Given the description of an element on the screen output the (x, y) to click on. 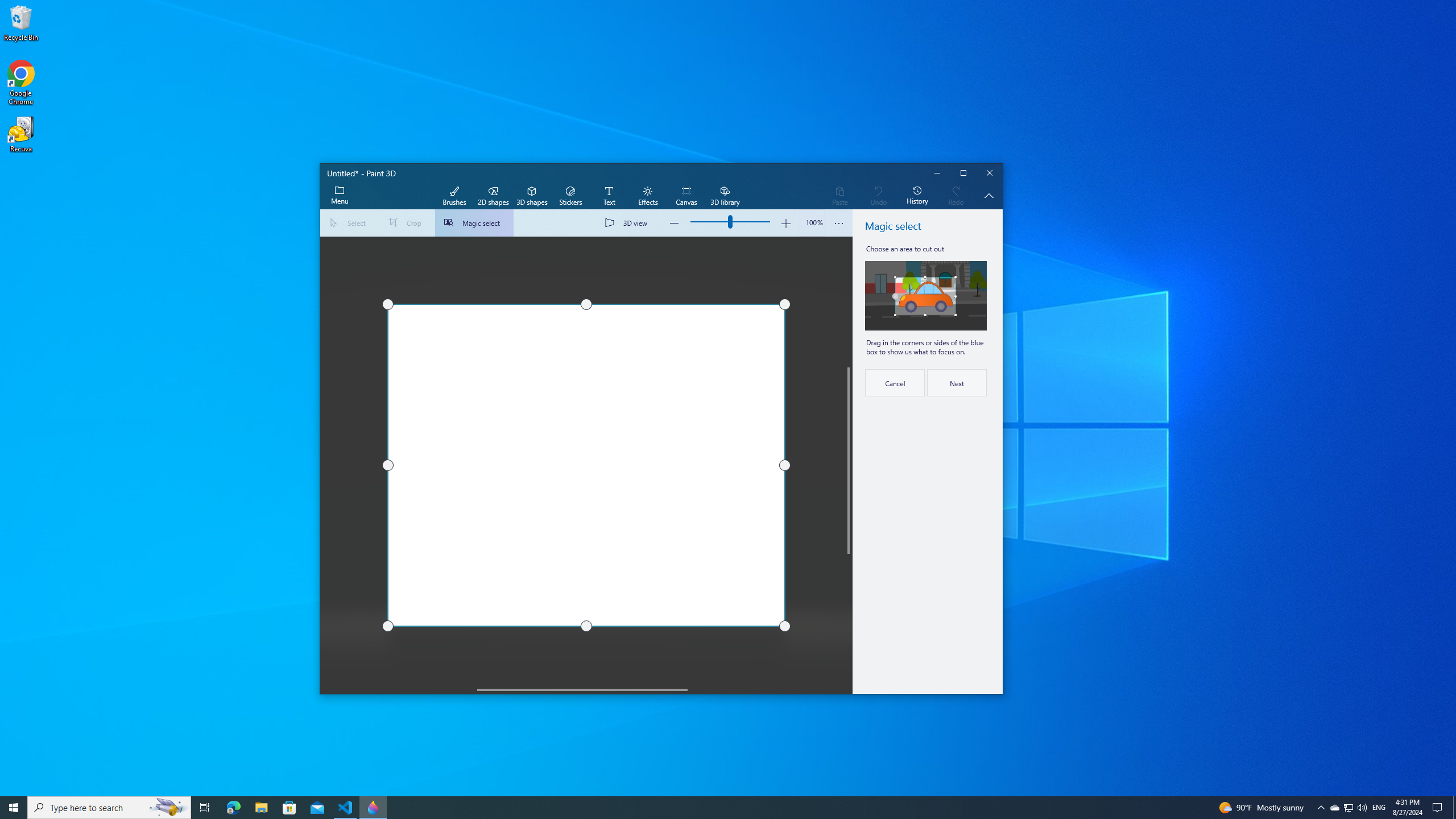
3D shapes (531, 195)
Expand menu (339, 195)
3D view (628, 222)
Undo (878, 195)
Crop (407, 222)
Brushes (454, 195)
Canvas (686, 195)
